Given the description of an element on the screen output the (x, y) to click on. 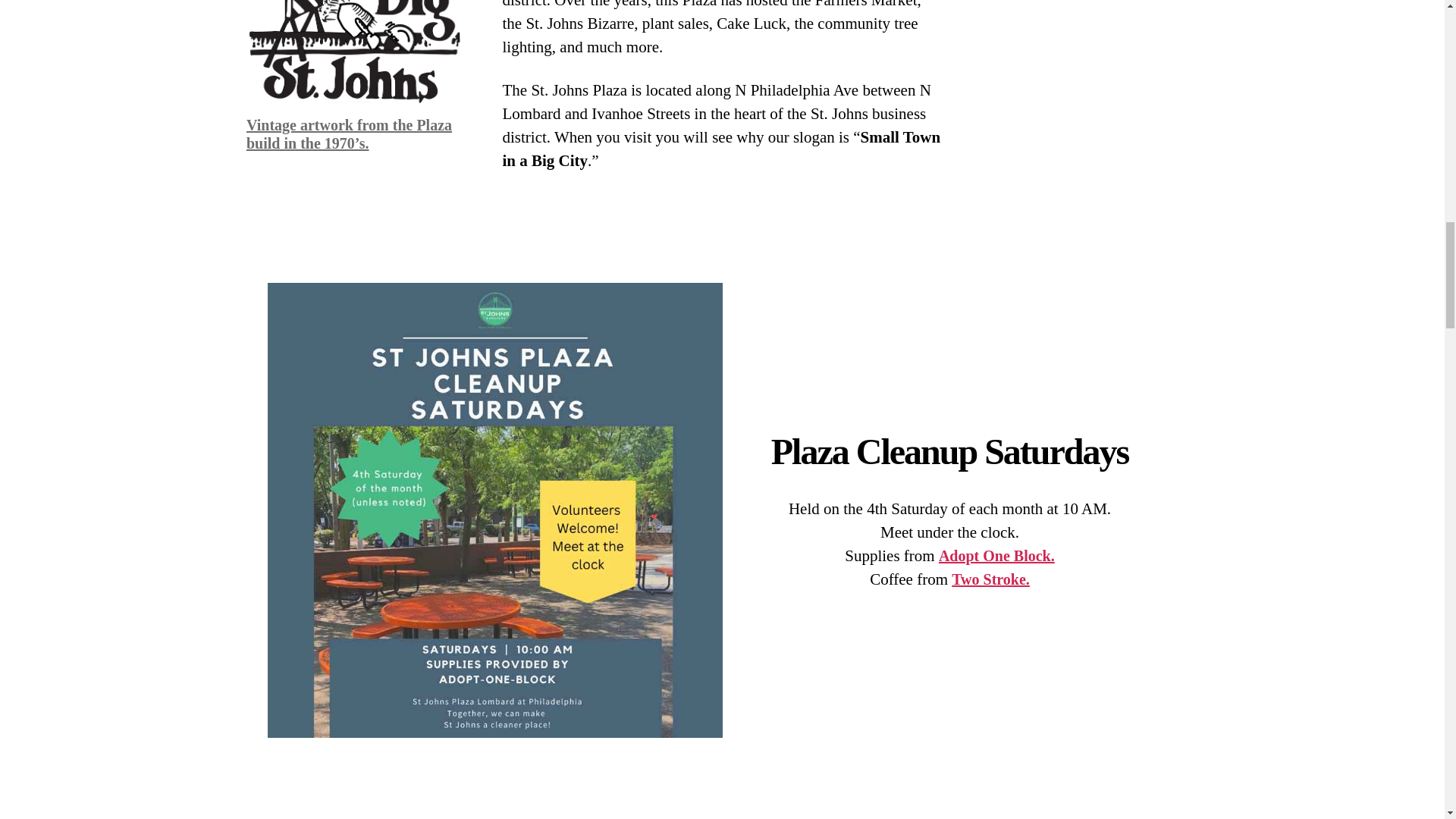
Two Stroke. (990, 579)
Adopt One Block. (996, 555)
